Given the description of an element on the screen output the (x, y) to click on. 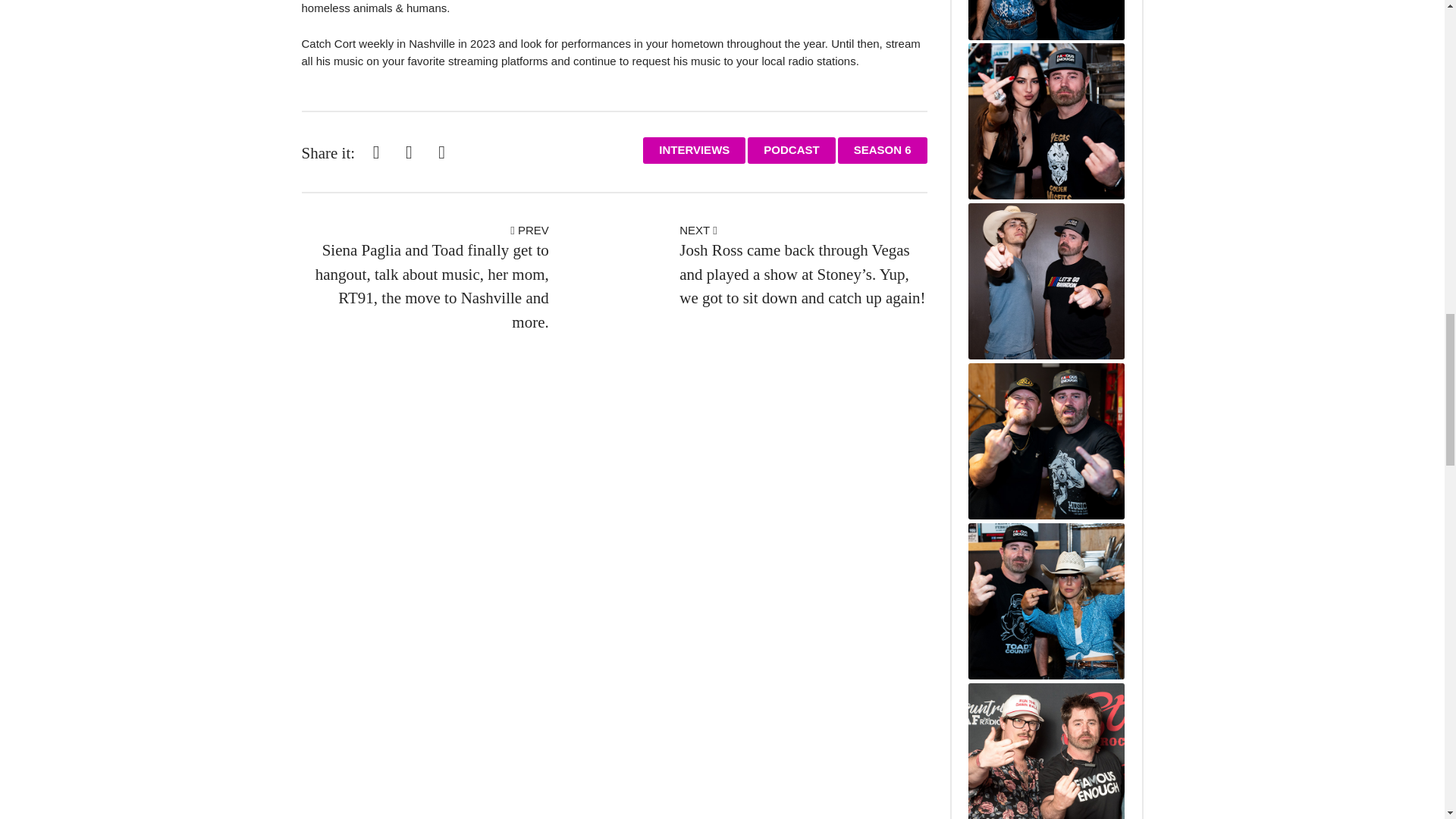
NEXT (697, 229)
SEASON 6 (882, 150)
INTERVIEWS (694, 150)
PREV (529, 229)
PODCAST (791, 150)
